Given the description of an element on the screen output the (x, y) to click on. 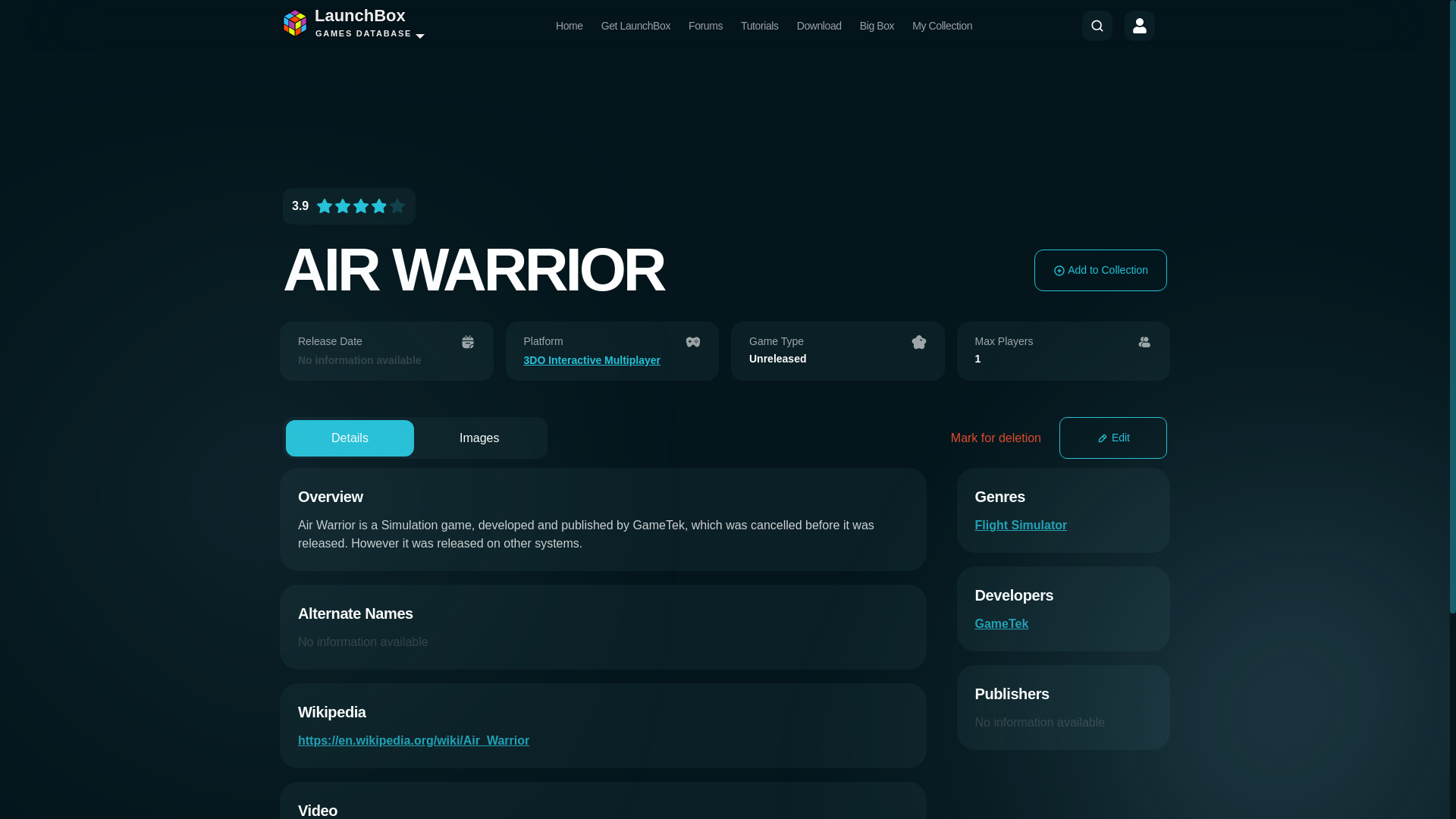
Forums (705, 26)
Images (478, 438)
Home (569, 26)
My Collection (941, 26)
Big Box (876, 26)
Flight Simulator (1021, 524)
Tutorials (759, 26)
Download (818, 26)
Edit (1113, 437)
Mark for deletion (995, 438)
